Given the description of an element on the screen output the (x, y) to click on. 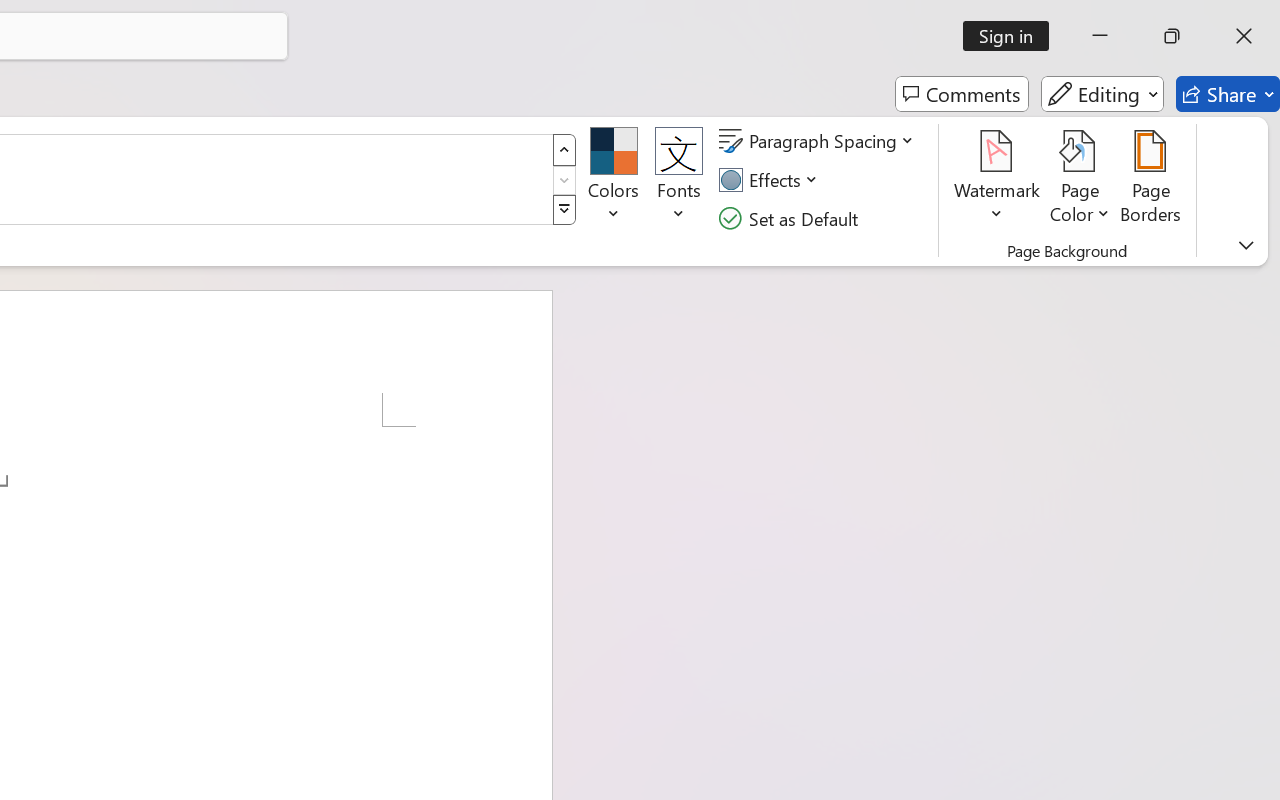
Effects (771, 179)
Set as Default (791, 218)
